Given the description of an element on the screen output the (x, y) to click on. 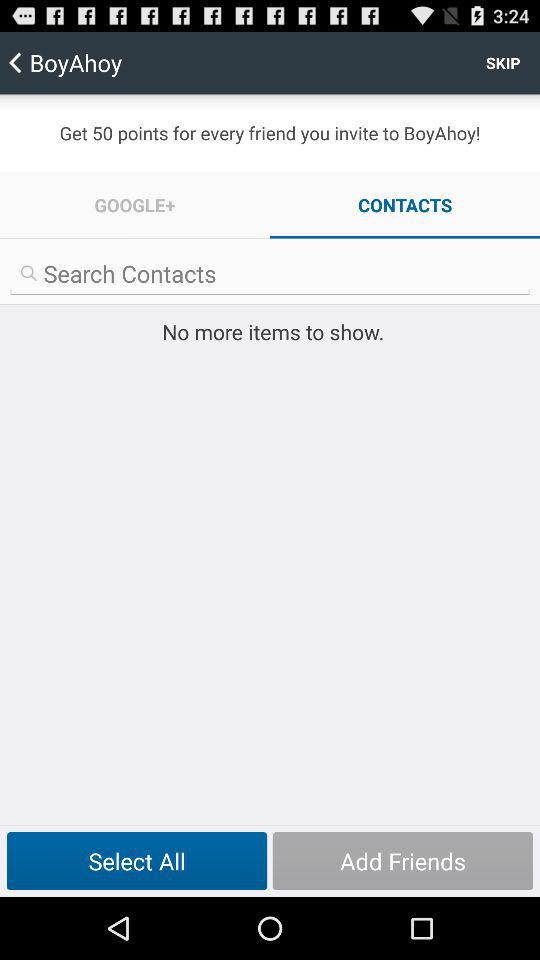
choose google+ icon (135, 204)
